Given the description of an element on the screen output the (x, y) to click on. 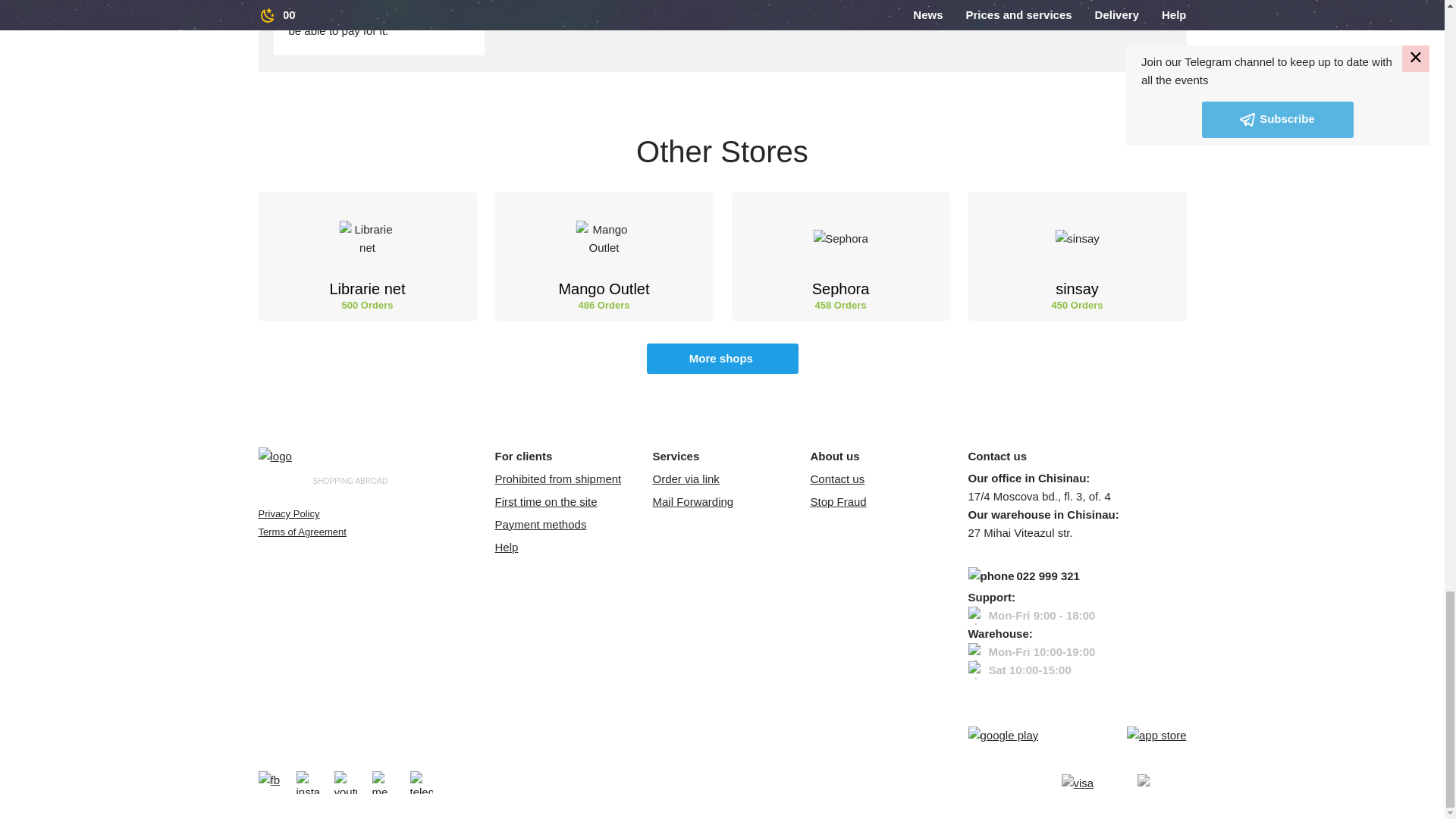
me (382, 782)
telegram (420, 782)
fb (269, 782)
insta (306, 782)
youtube (344, 782)
